Given the description of an element on the screen output the (x, y) to click on. 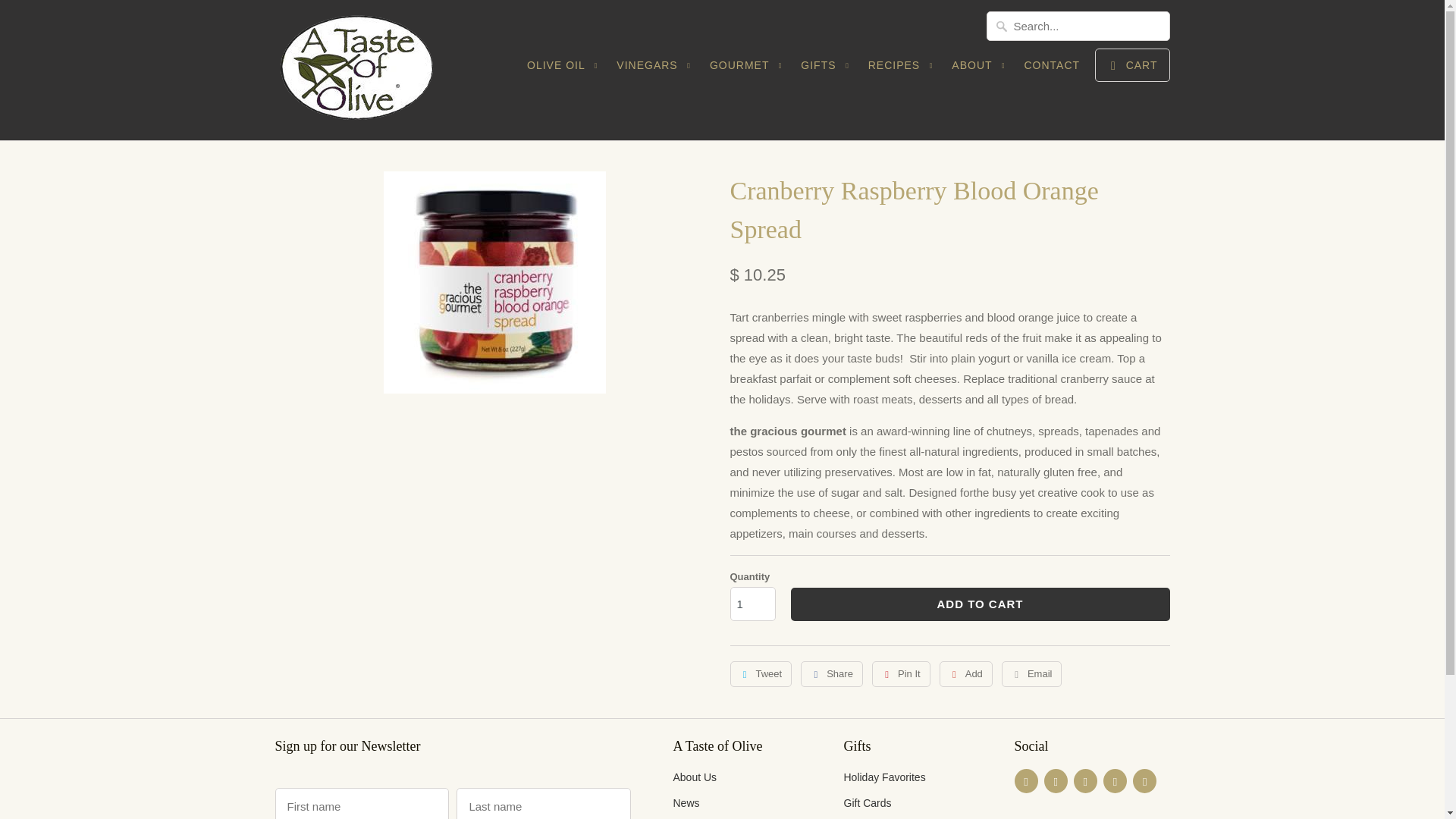
ABOUT (980, 69)
CONTACT (1051, 68)
Share this on Facebook (831, 673)
1 (751, 603)
A Taste of Olive on Instagram (1144, 781)
OLIVE OIL (564, 69)
A Taste of Olive on Pinterest (1085, 781)
VINEGARS (654, 69)
A Taste of Olive (380, 69)
Email this to a friend (1031, 673)
GIFTS (825, 69)
A Taste of Olive on LinkedIn (1114, 781)
GOURMET (748, 69)
Share this on Pinterest (901, 673)
RECIPES (901, 69)
